Given the description of an element on the screen output the (x, y) to click on. 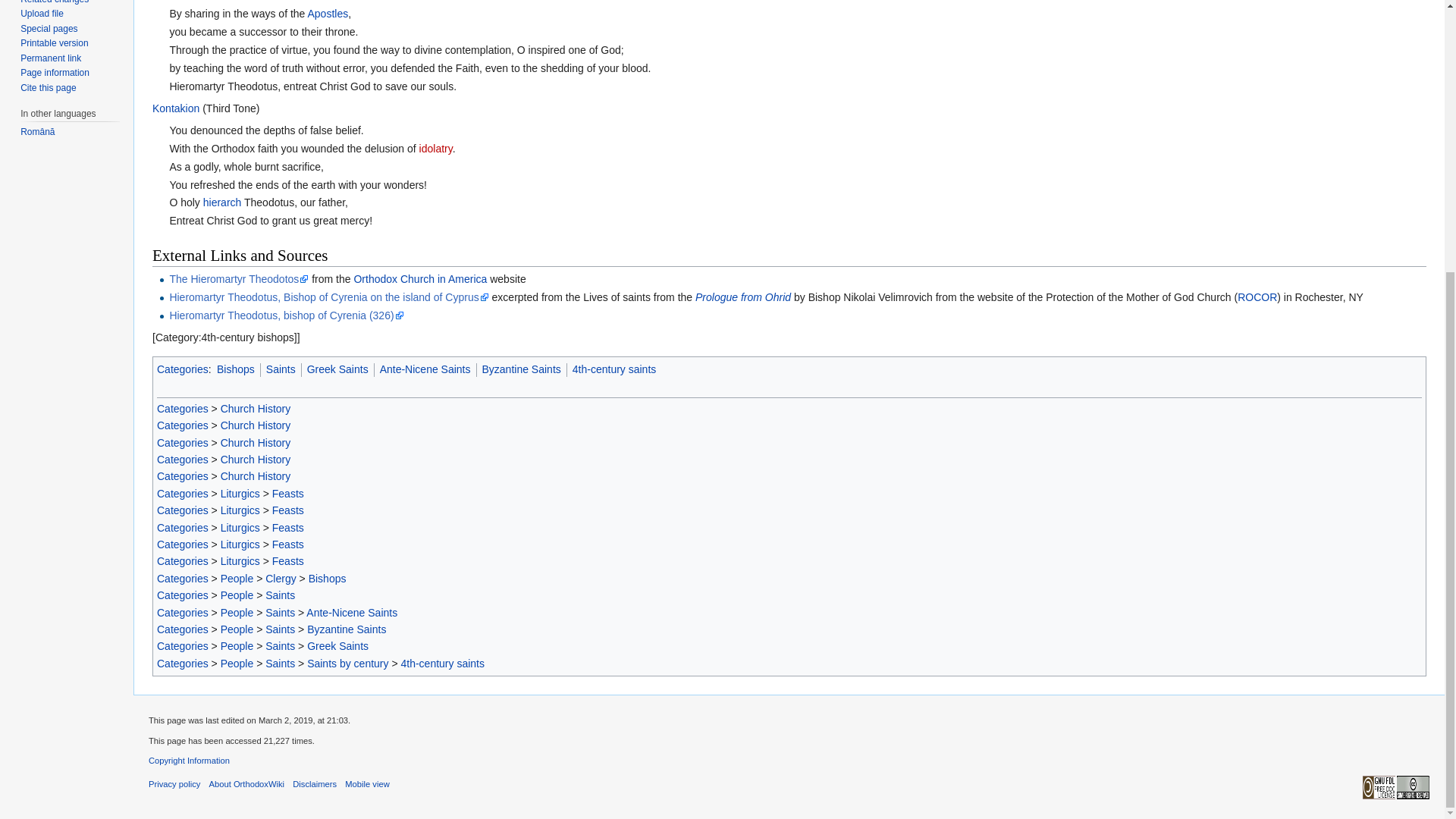
Categories (182, 425)
ROCOR (1256, 297)
Special:Categories (182, 369)
Church History (256, 425)
idolatry (435, 148)
Categories (182, 442)
Church History (256, 459)
Kontakion (175, 108)
Ante-Nicene Saints (425, 369)
Categories (182, 459)
